Given the description of an element on the screen output the (x, y) to click on. 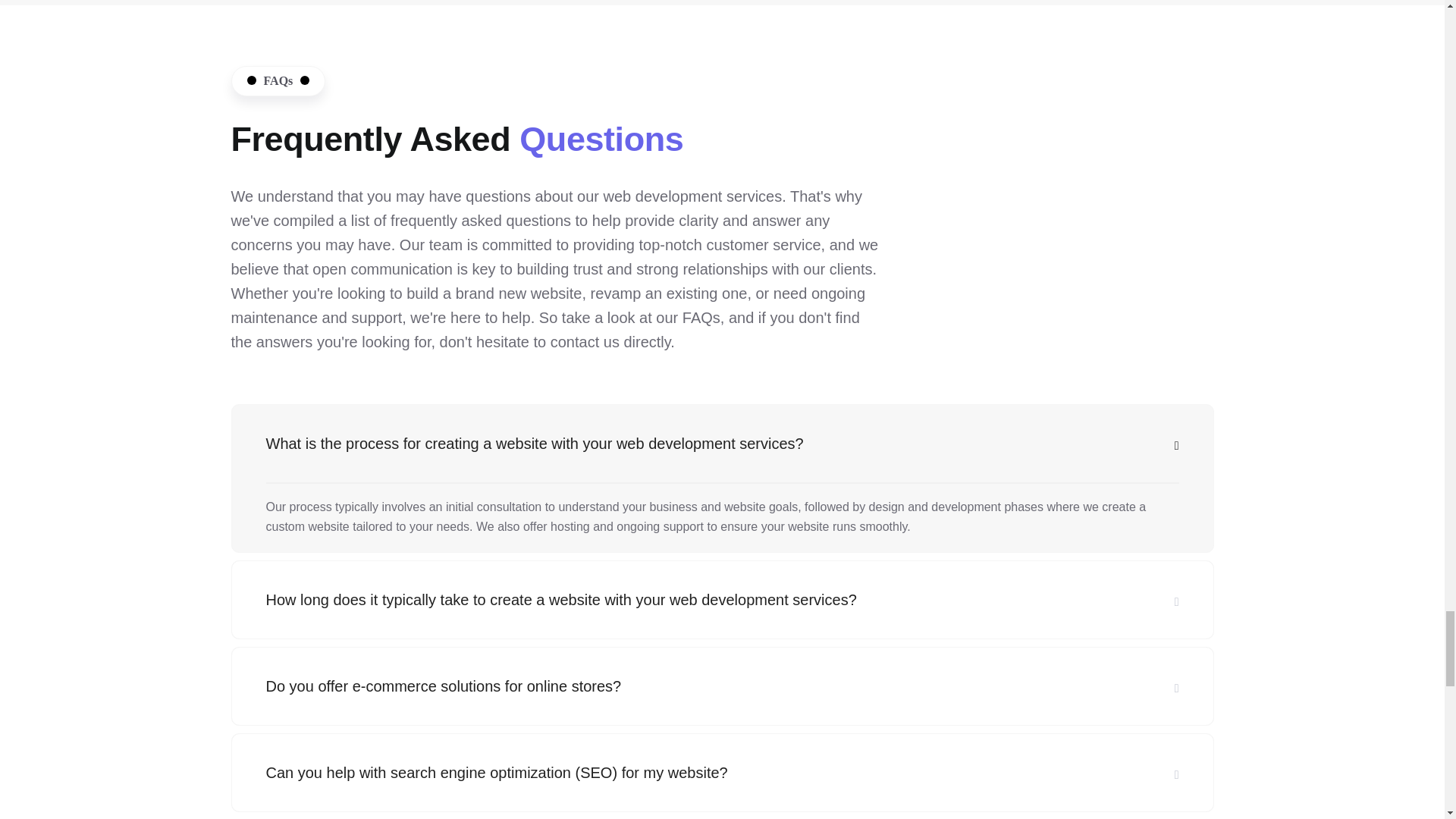
Do you offer e-commerce solutions for online stores? (721, 685)
